Given the description of an element on the screen output the (x, y) to click on. 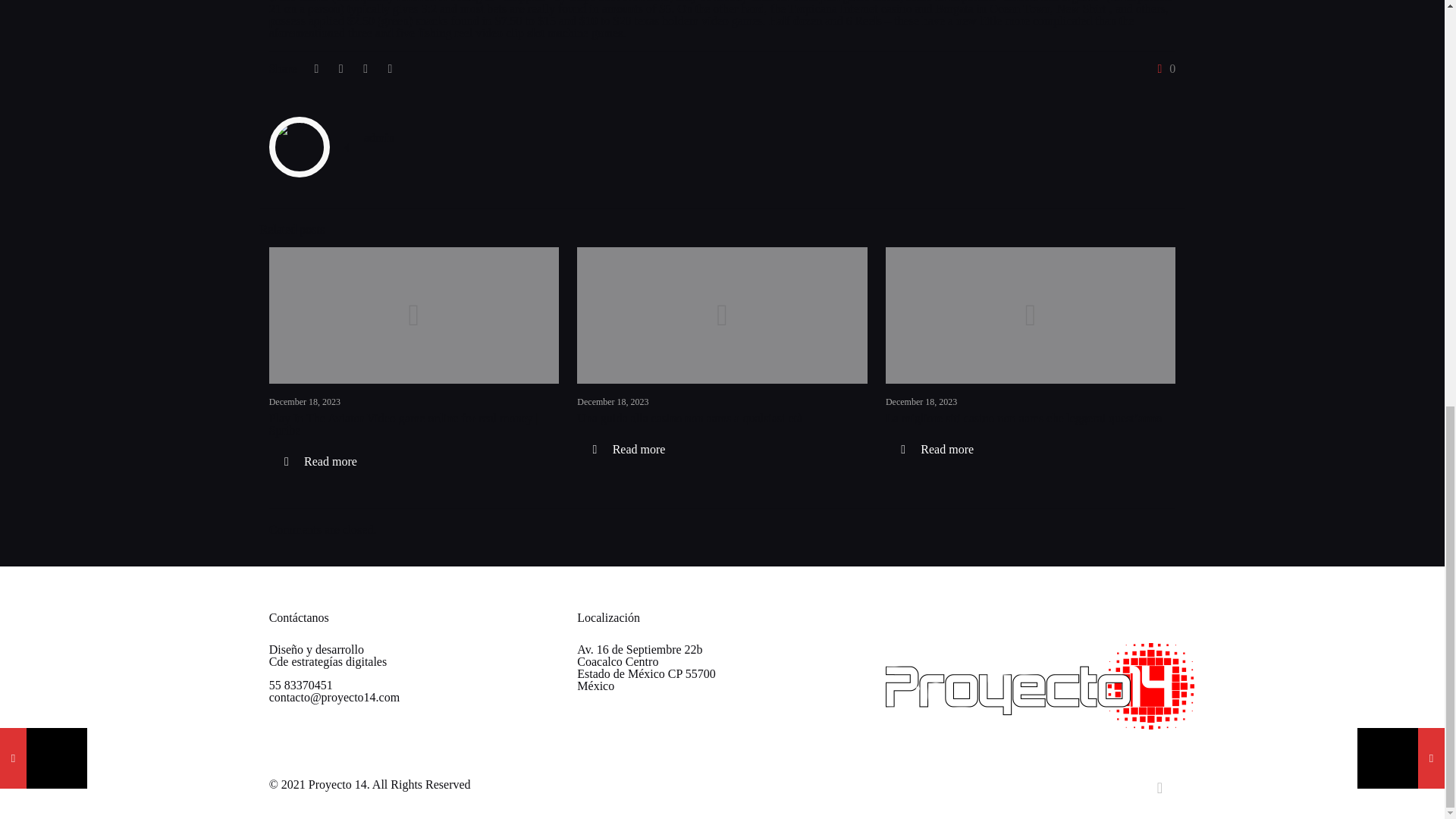
admin (379, 137)
Read more (936, 449)
Read more (320, 461)
0 (1162, 69)
Read more (627, 449)
